Given the description of an element on the screen output the (x, y) to click on. 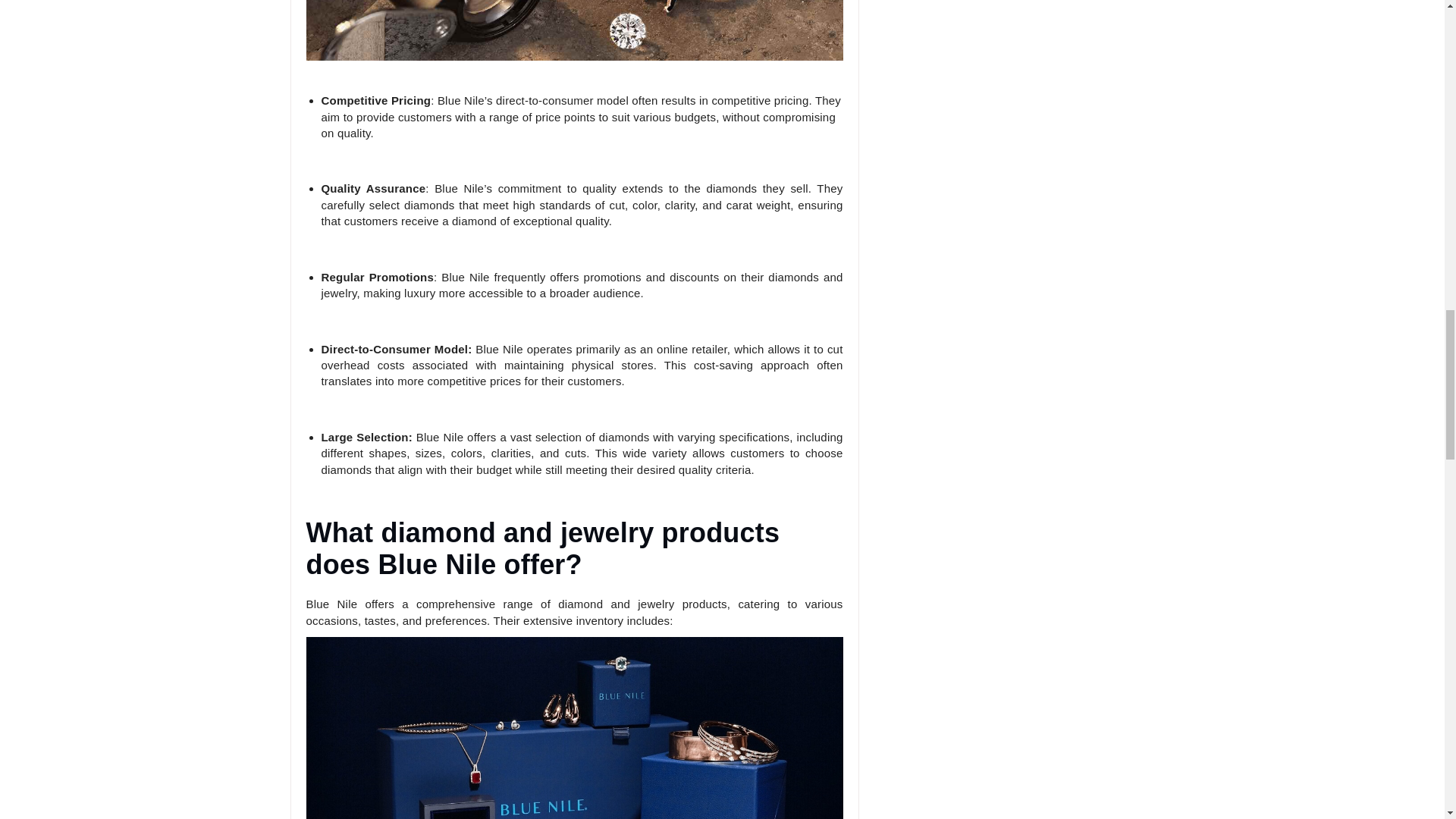
Blue Nile Diamond Rings (574, 30)
Blue Nile Jewelry (574, 728)
